Given the description of an element on the screen output the (x, y) to click on. 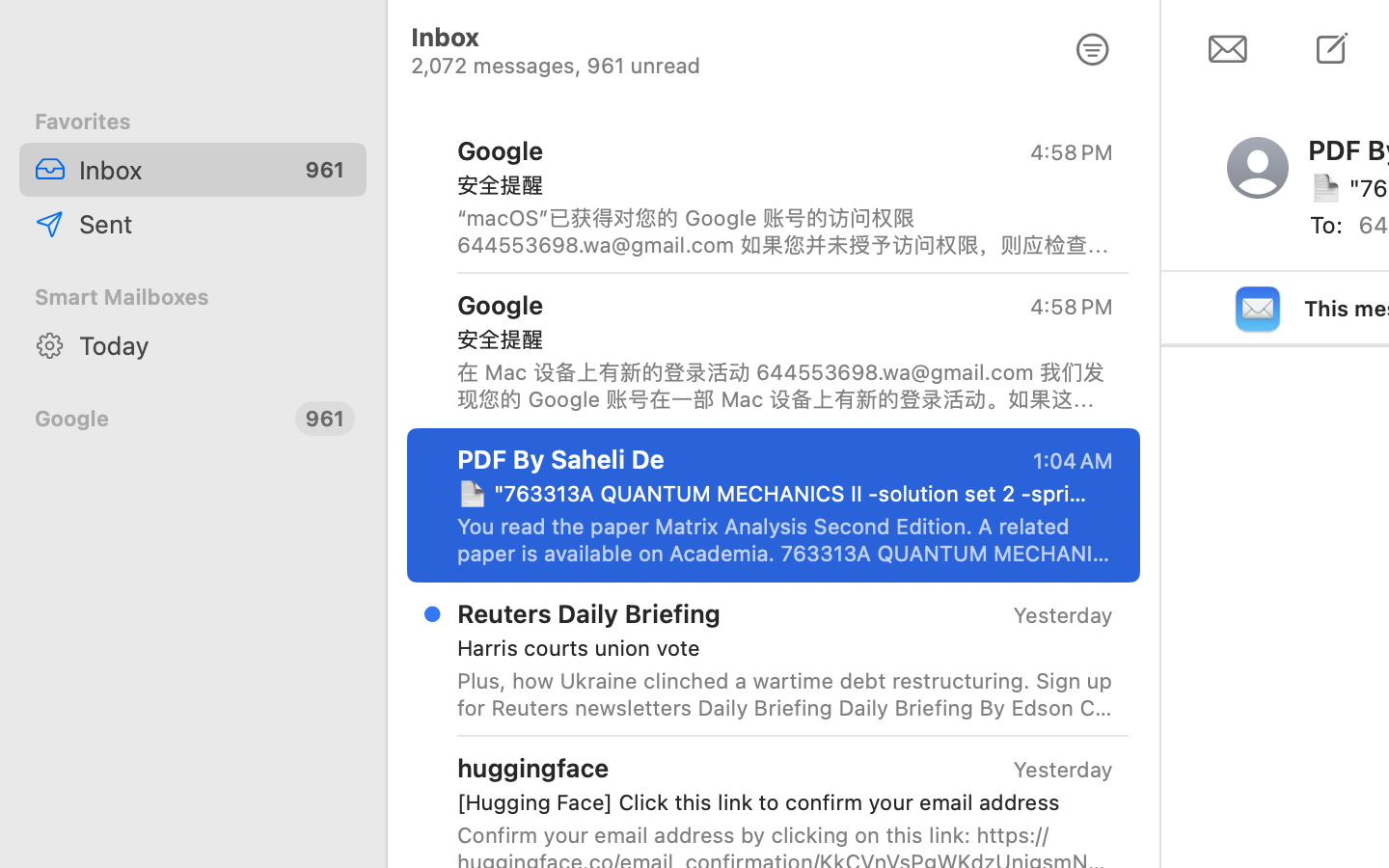
Yesterday Element type: AXStaticText (1062, 769)
0 Element type: AXCheckBox (1092, 50)
安全提醒 Element type: AXStaticText (777, 184)
Reuters Daily Briefing Element type: AXStaticText (589, 612)
Google Element type: AXStaticText (156, 418)
